Given the description of an element on the screen output the (x, y) to click on. 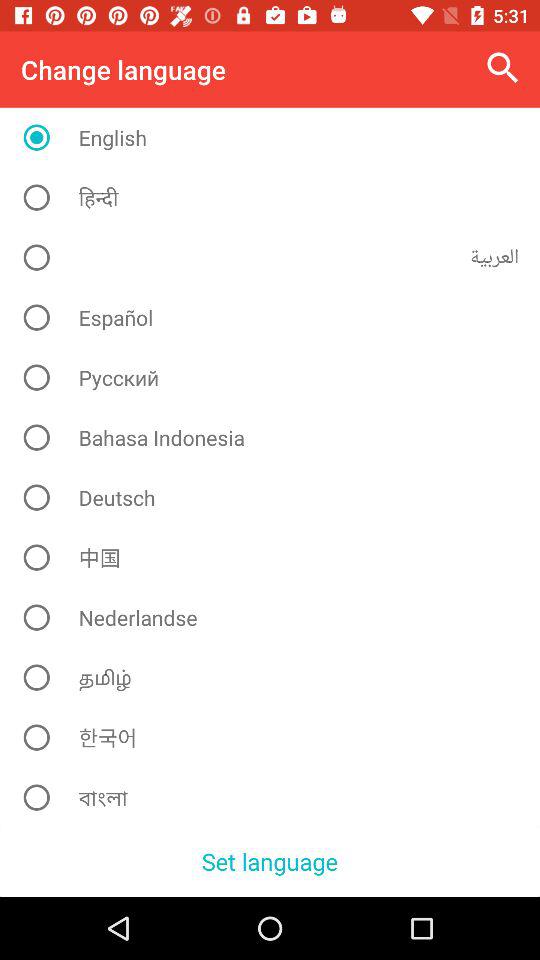
launch bahasa indonesia (277, 437)
